Given the description of an element on the screen output the (x, y) to click on. 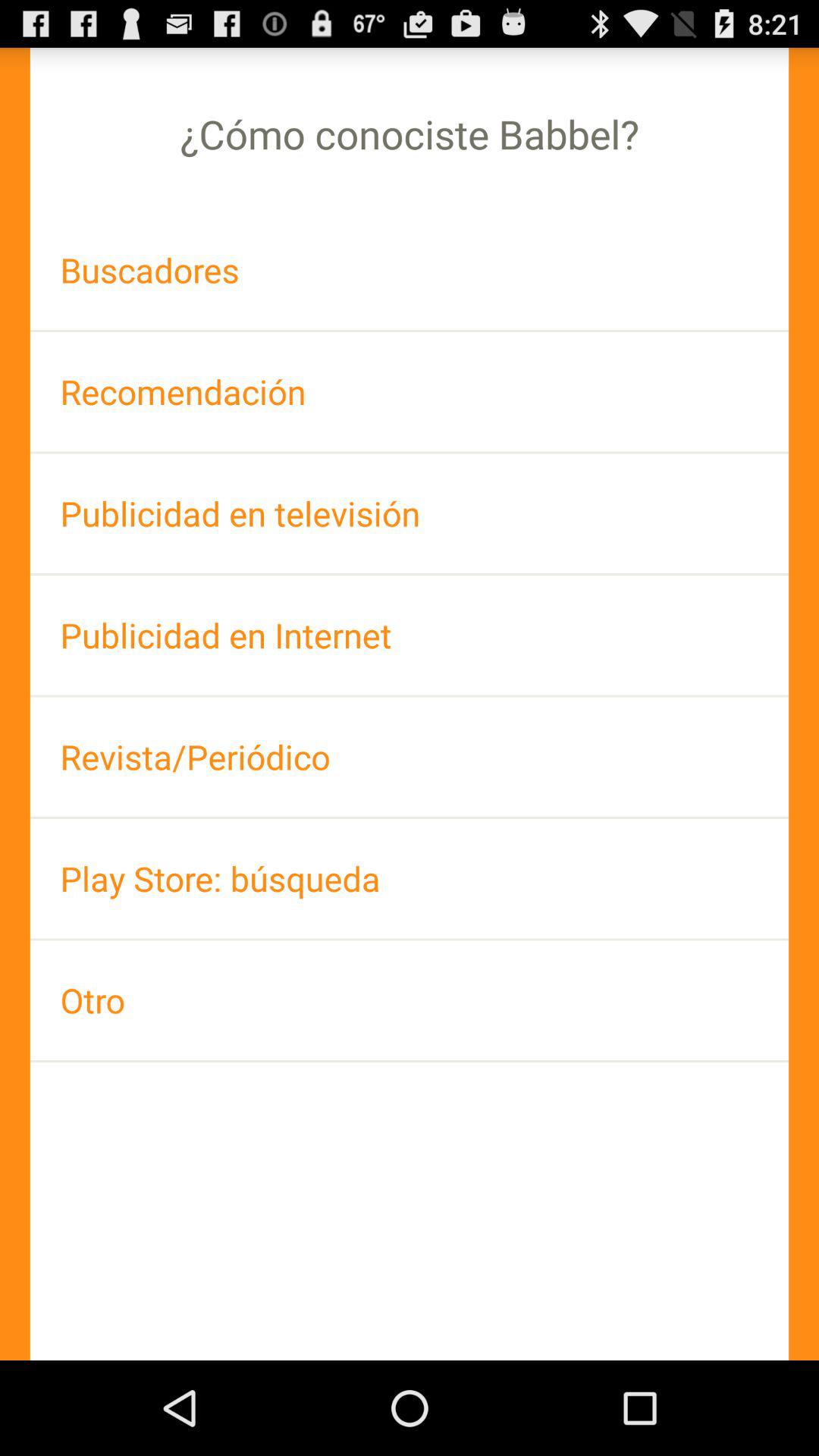
flip to the buscadores item (409, 269)
